Given the description of an element on the screen output the (x, y) to click on. 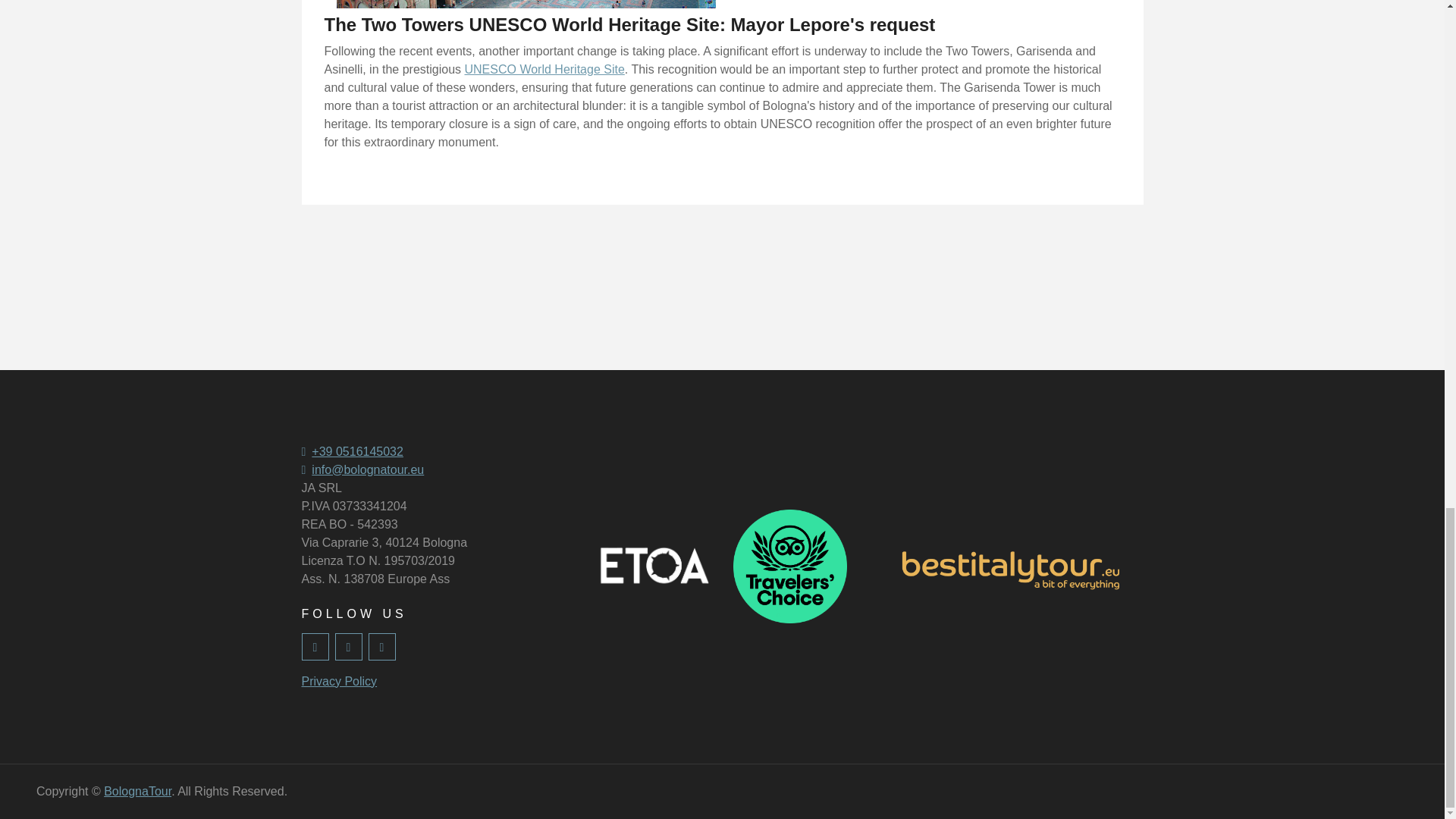
UNESCO World Heritage Site (544, 69)
Privacy Policy (339, 680)
